Given the description of an element on the screen output the (x, y) to click on. 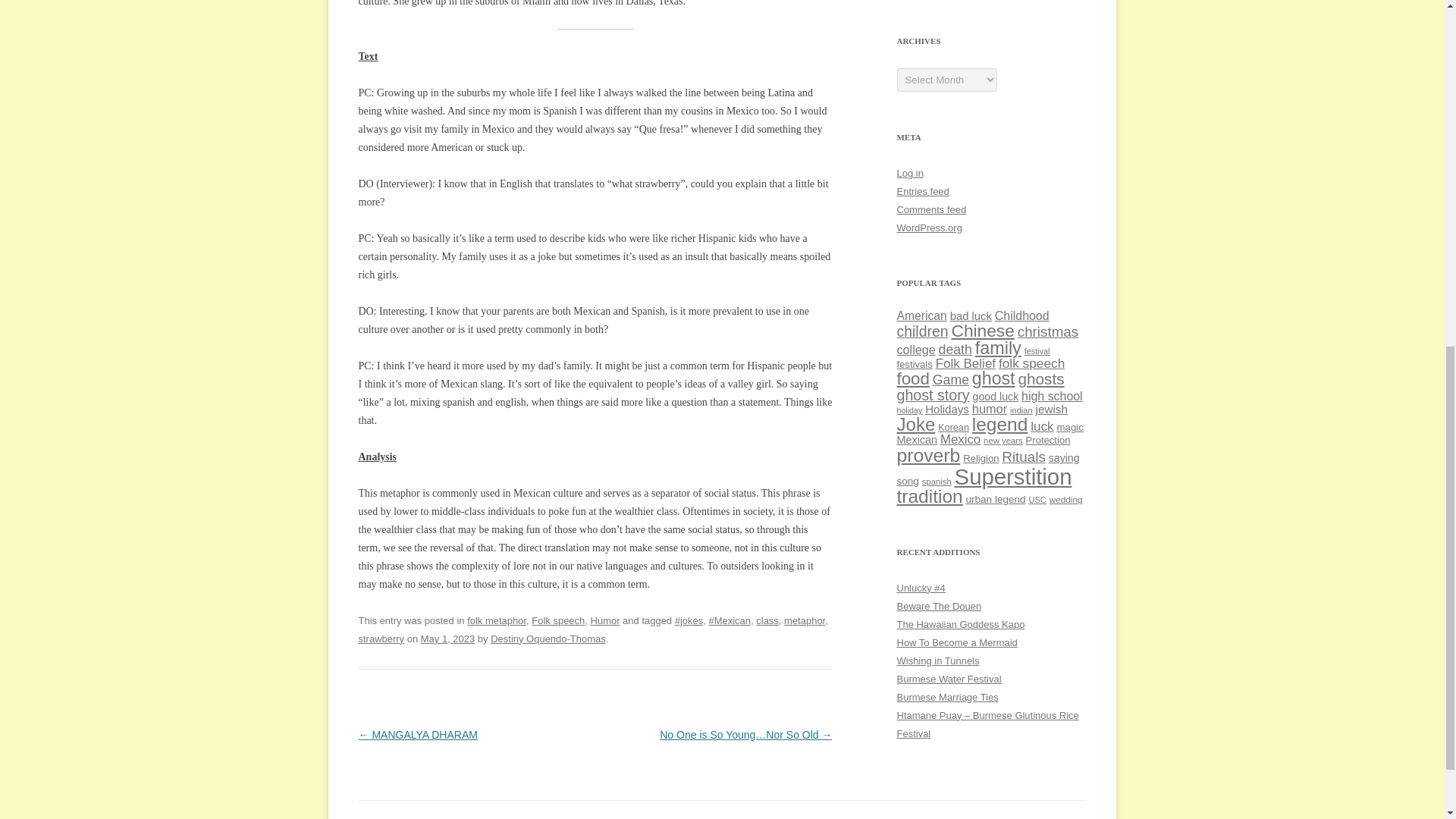
Log in (909, 173)
food (912, 378)
metaphor (804, 620)
Folk speech (558, 620)
May 1, 2023 (447, 638)
Comments feed (931, 209)
folk metaphor (496, 620)
WordPress.org (928, 227)
death (955, 349)
college (915, 349)
Entries feed (922, 191)
bad luck (970, 316)
View all posts by Destiny Oquendo-Thomas (547, 638)
festivals (913, 364)
festival (1037, 350)
